Given the description of an element on the screen output the (x, y) to click on. 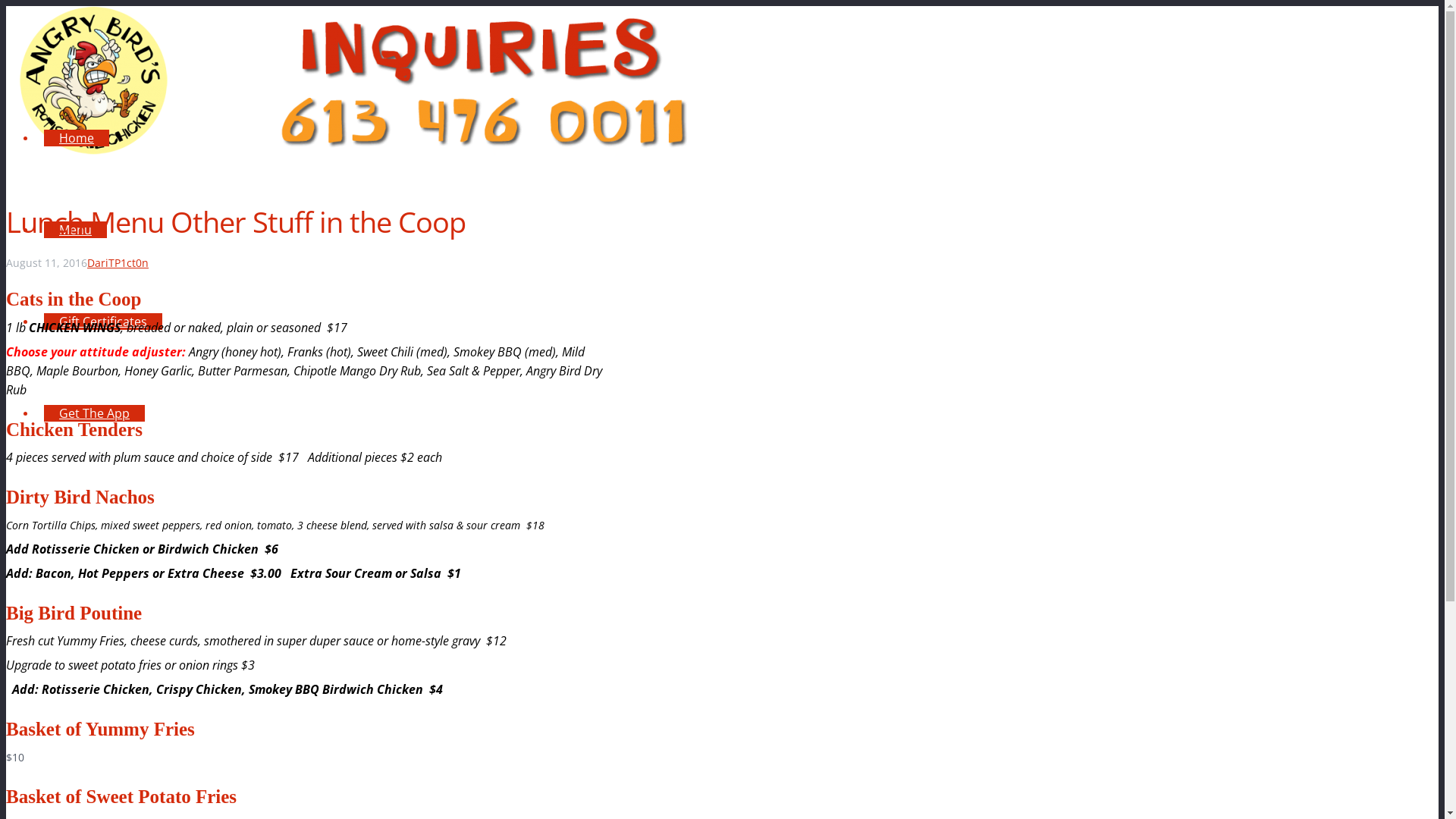
Home Element type: text (76, 137)
Gift Certificates Element type: text (102, 321)
Get The App Element type: text (93, 412)
DariTP1ct0n Element type: text (117, 262)
Menu Element type: text (74, 229)
